Given the description of an element on the screen output the (x, y) to click on. 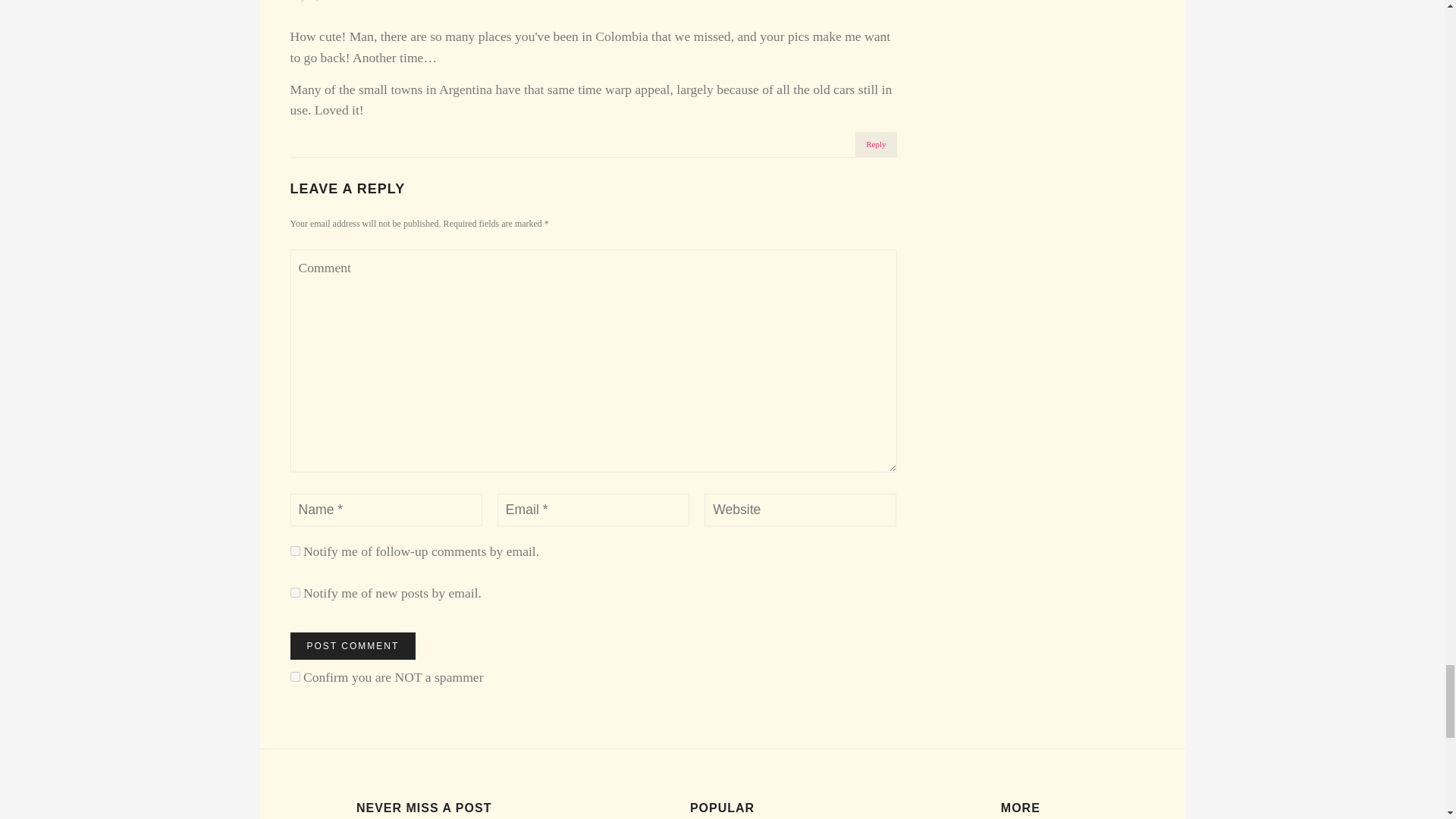
subscribe (294, 592)
on (294, 676)
subscribe (294, 551)
Post Comment (351, 646)
